Given the description of an element on the screen output the (x, y) to click on. 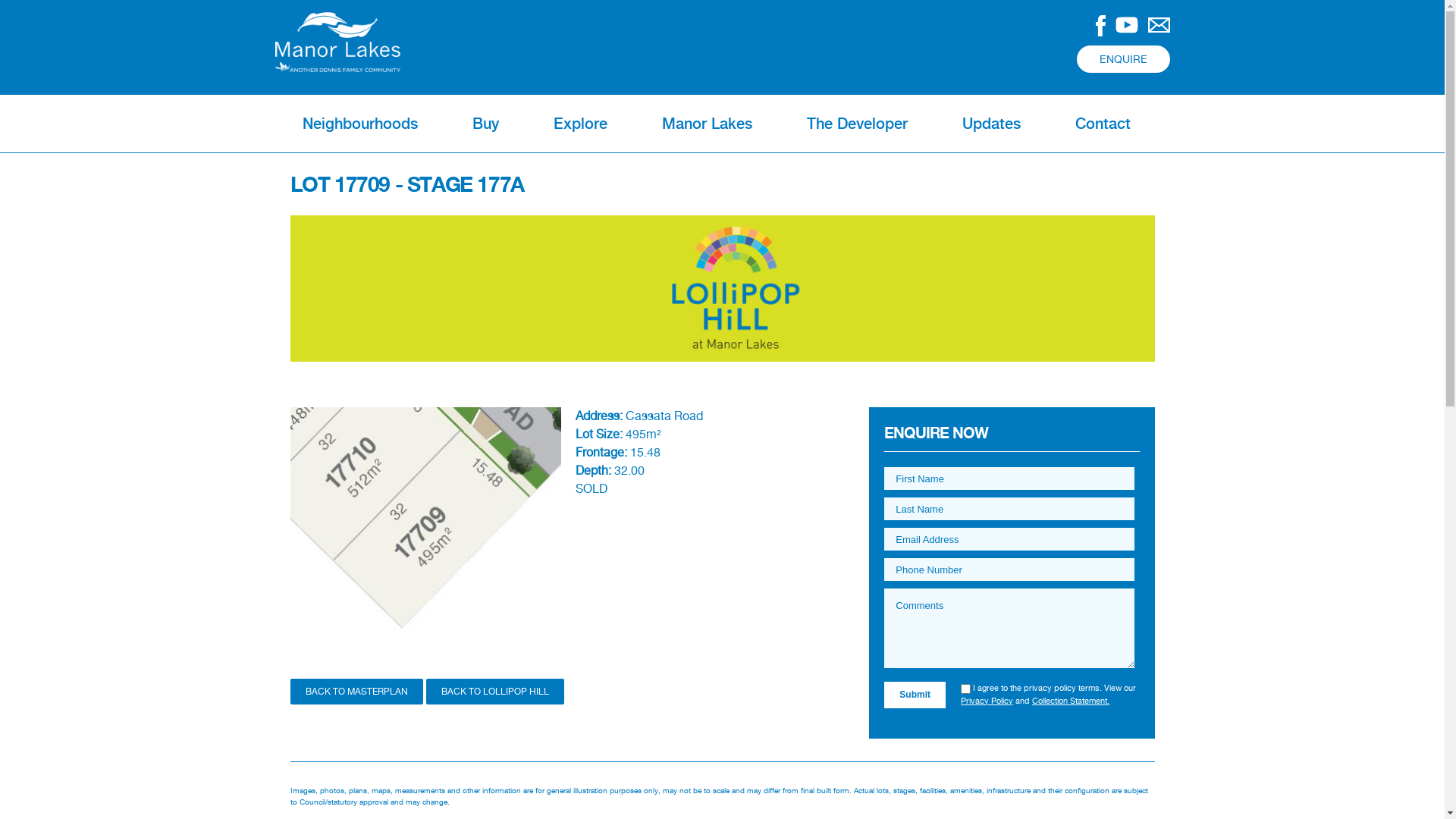
Privacy Policy Element type: text (986, 701)
Updates Element type: text (990, 123)
BACK TO MASTERPLAN Element type: text (355, 691)
BACK TO LOLLIPOP HILL Element type: text (495, 691)
Skip to main content Element type: text (694, 1)
Manor Lakes Element type: text (705, 123)
Collection Statement. Element type: text (1070, 701)
Buy Element type: text (484, 123)
Neighbourhoods Element type: text (359, 123)
Explore Element type: text (580, 123)
ENQUIRE Element type: text (1123, 58)
The Developer Element type: text (857, 123)
Submit Element type: text (914, 694)
Contact Element type: text (1102, 123)
